Given the description of an element on the screen output the (x, y) to click on. 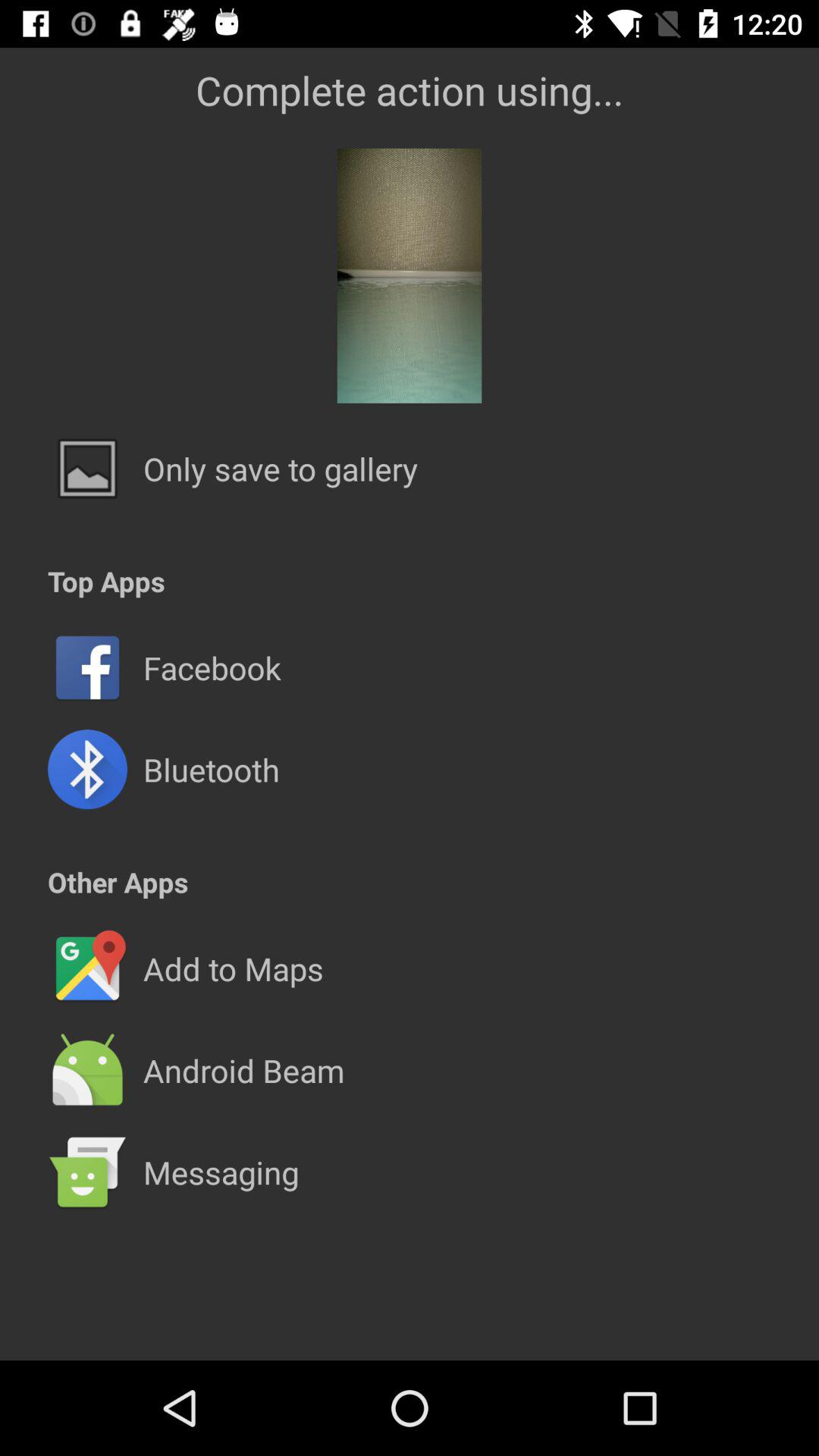
jump to the bluetooth app (211, 769)
